Given the description of an element on the screen output the (x, y) to click on. 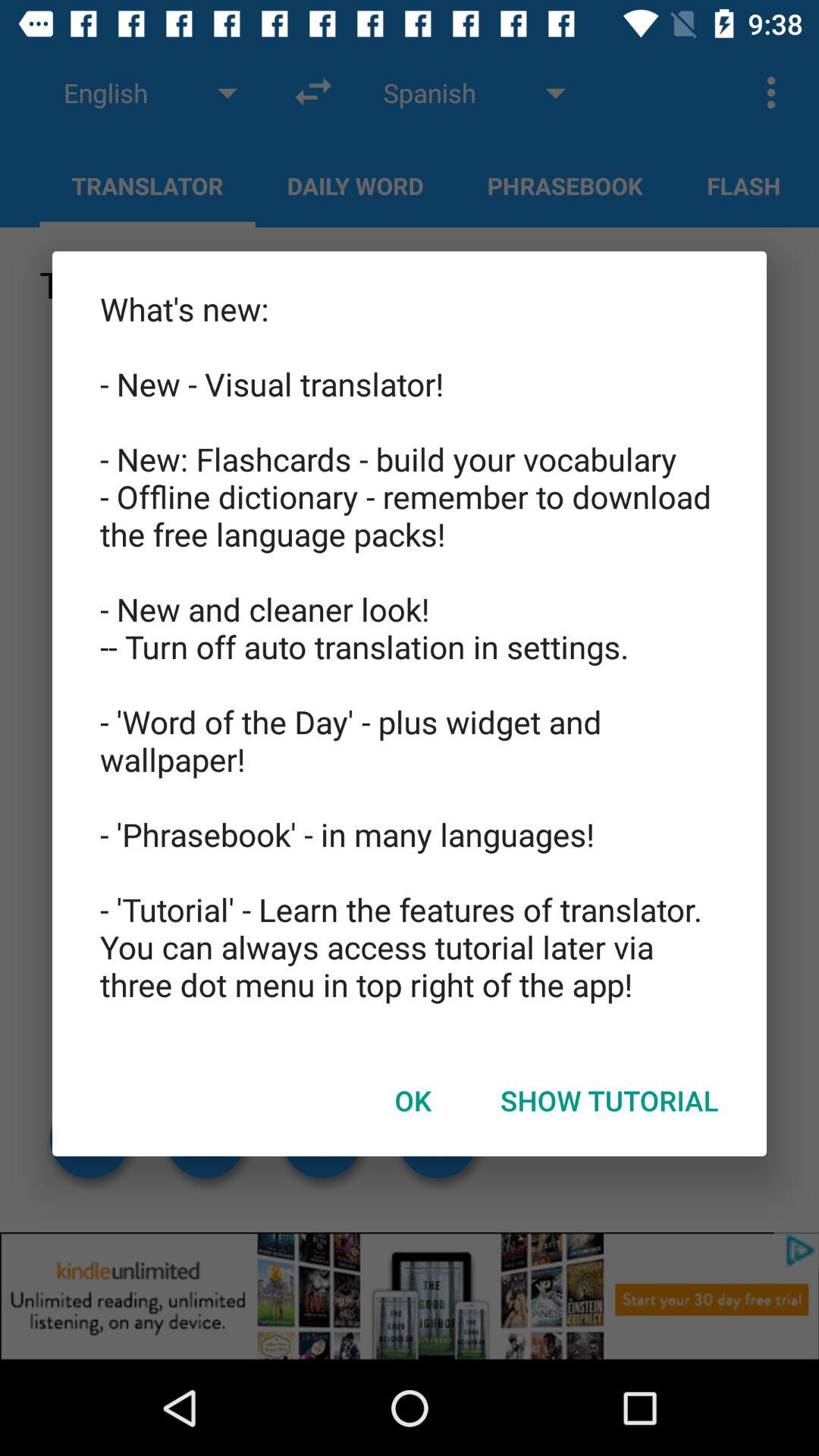
select the icon at the bottom right corner (609, 1100)
